Given the description of an element on the screen output the (x, y) to click on. 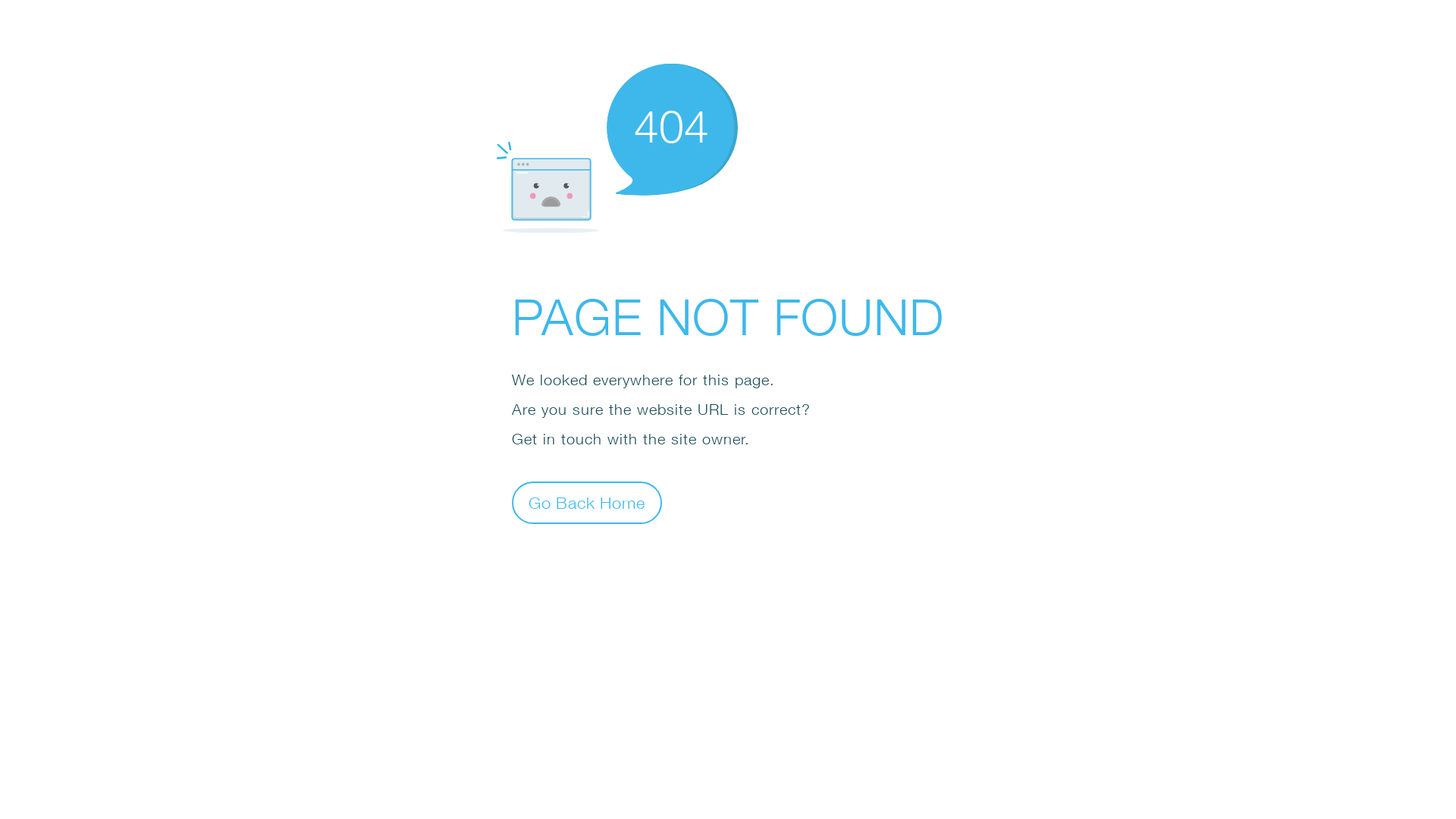
Go Back Home Element type: text (586, 502)
